Given the description of an element on the screen output the (x, y) to click on. 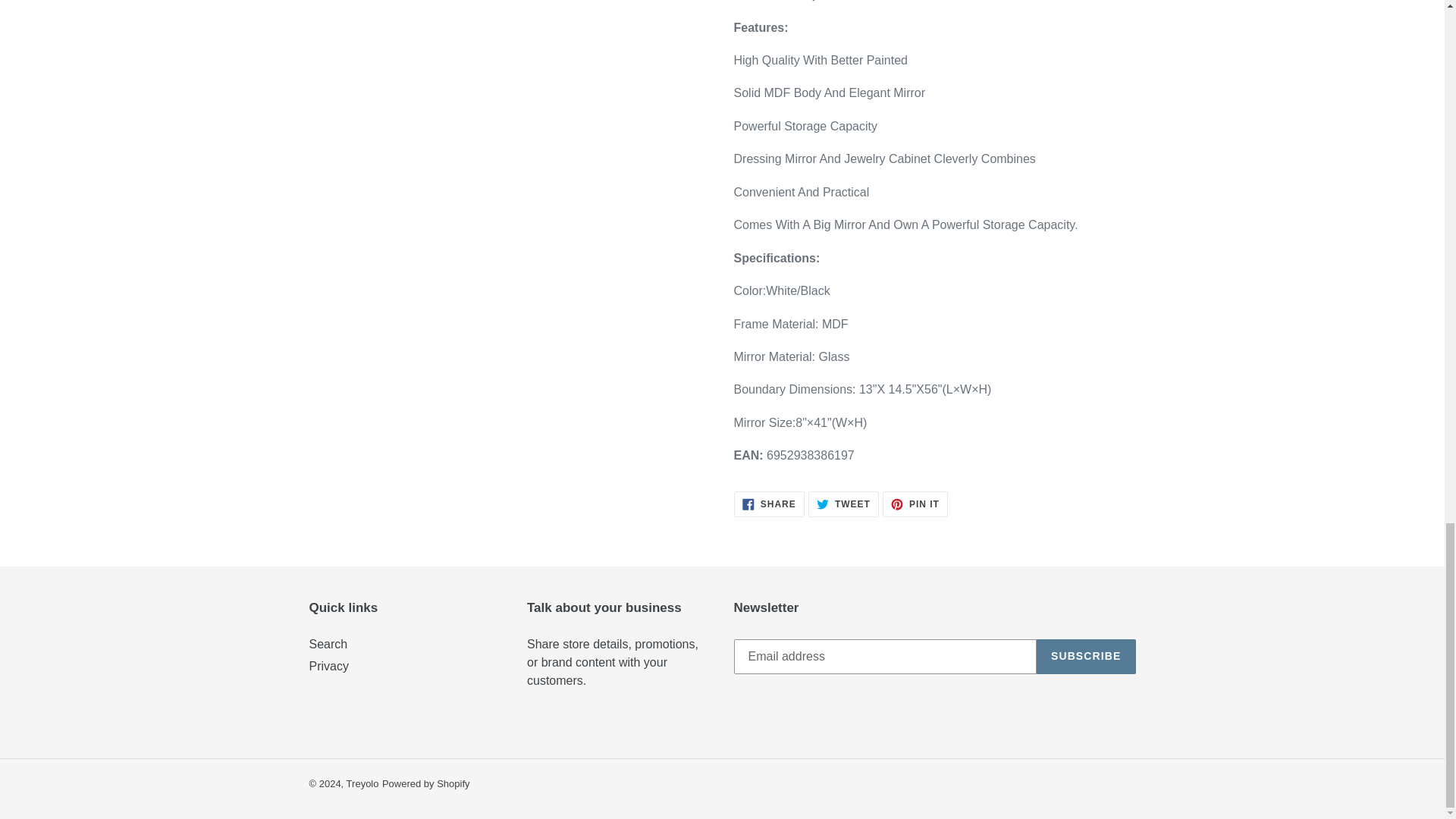
Treyolo (362, 783)
Powered by Shopify (843, 503)
Privacy (425, 783)
SUBSCRIBE (769, 503)
Search (328, 666)
